Given the description of an element on the screen output the (x, y) to click on. 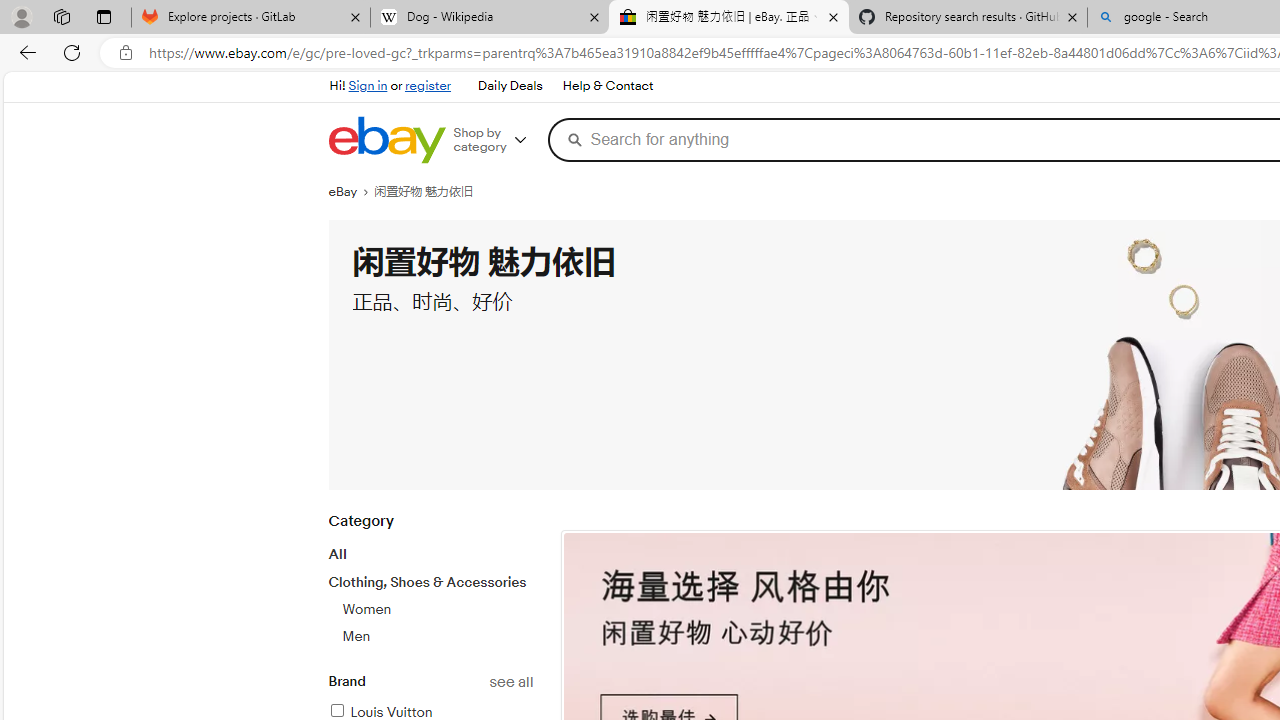
Help & Contact (606, 85)
eBay Home (386, 139)
Help & Contact (607, 86)
Men (437, 636)
eBay (351, 192)
Daily Deals (509, 85)
Daily Deals (509, 86)
eBay (351, 191)
register (427, 85)
AllClothing, Shoes & AccessoriesWomenMen (430, 595)
